Given the description of an element on the screen output the (x, y) to click on. 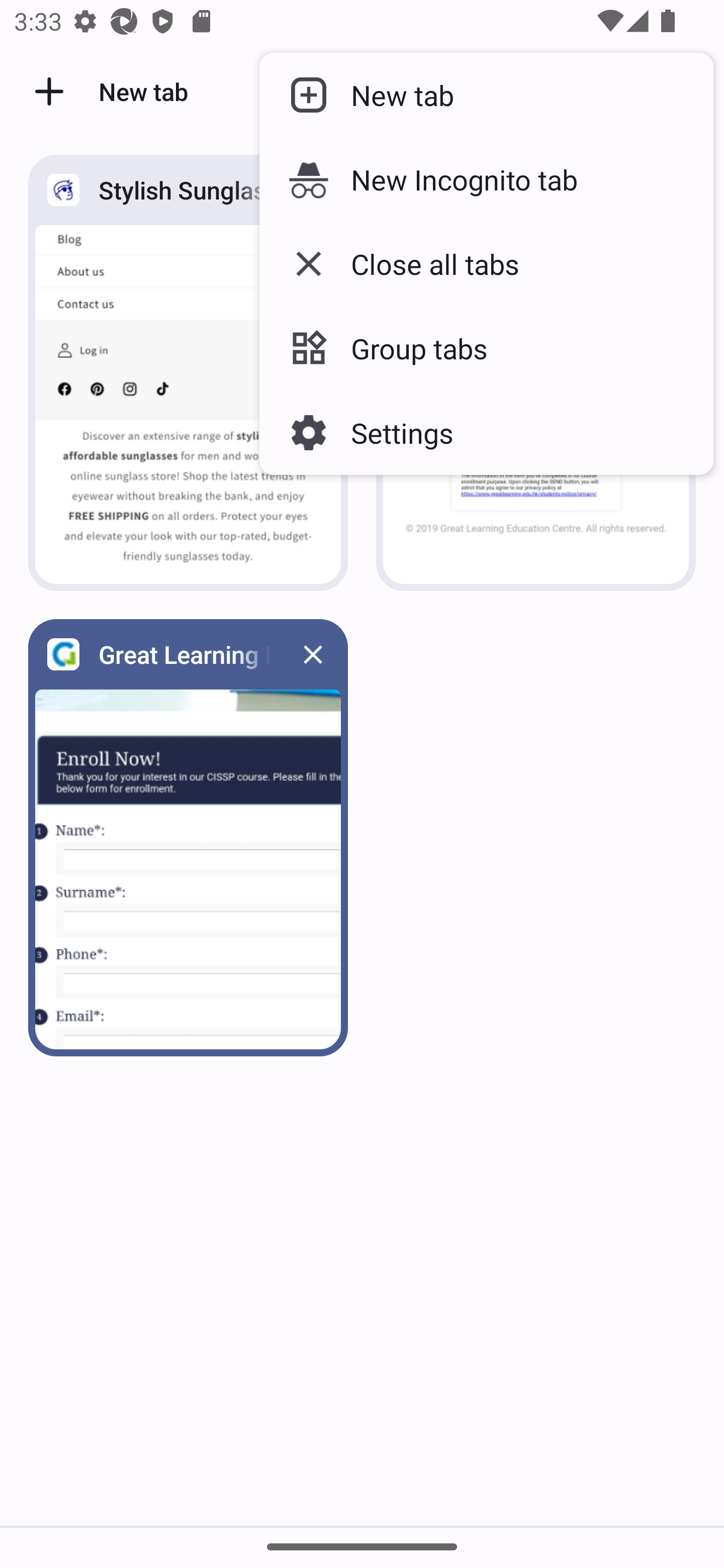
New tab (486, 95)
New Incognito tab (486, 179)
Close all tabs (486, 263)
Group tabs (486, 347)
Settings (486, 432)
